Given the description of an element on the screen output the (x, y) to click on. 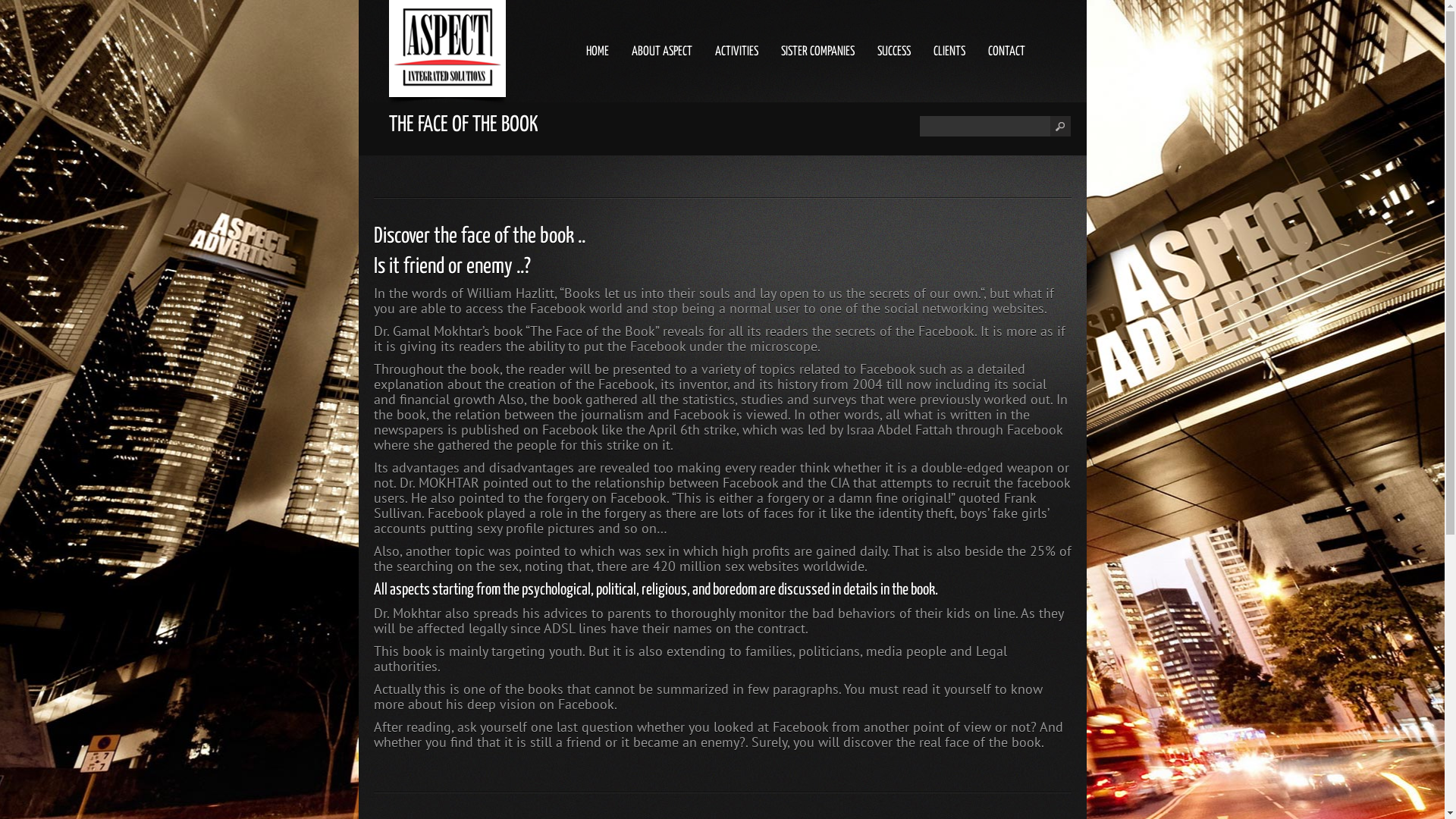
HOME Element type: text (596, 51)
ACTIVITIES Element type: text (735, 51)
ABOUT ASPECT Element type: text (661, 51)
Search Element type: hover (984, 126)
CONTACT Element type: text (1005, 51)
SUCCESS Element type: text (893, 51)
SISTER COMPANIES Element type: text (817, 51)
CLIENTS Element type: text (948, 51)
